Given the description of an element on the screen output the (x, y) to click on. 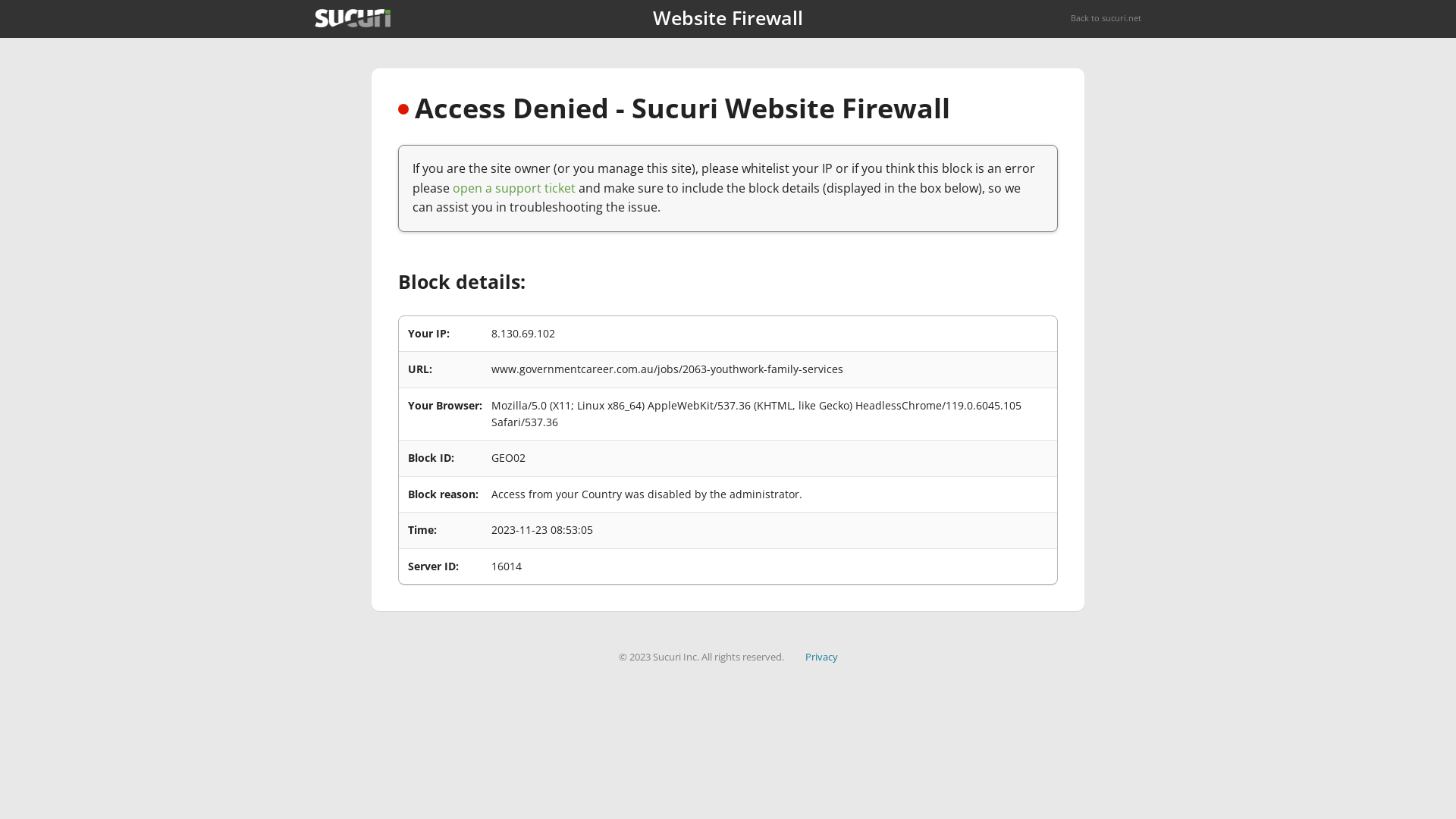
Privacy Element type: text (821, 656)
open a support ticket Element type: text (513, 187)
Back to sucuri.net Element type: text (1105, 18)
